Given the description of an element on the screen output the (x, y) to click on. 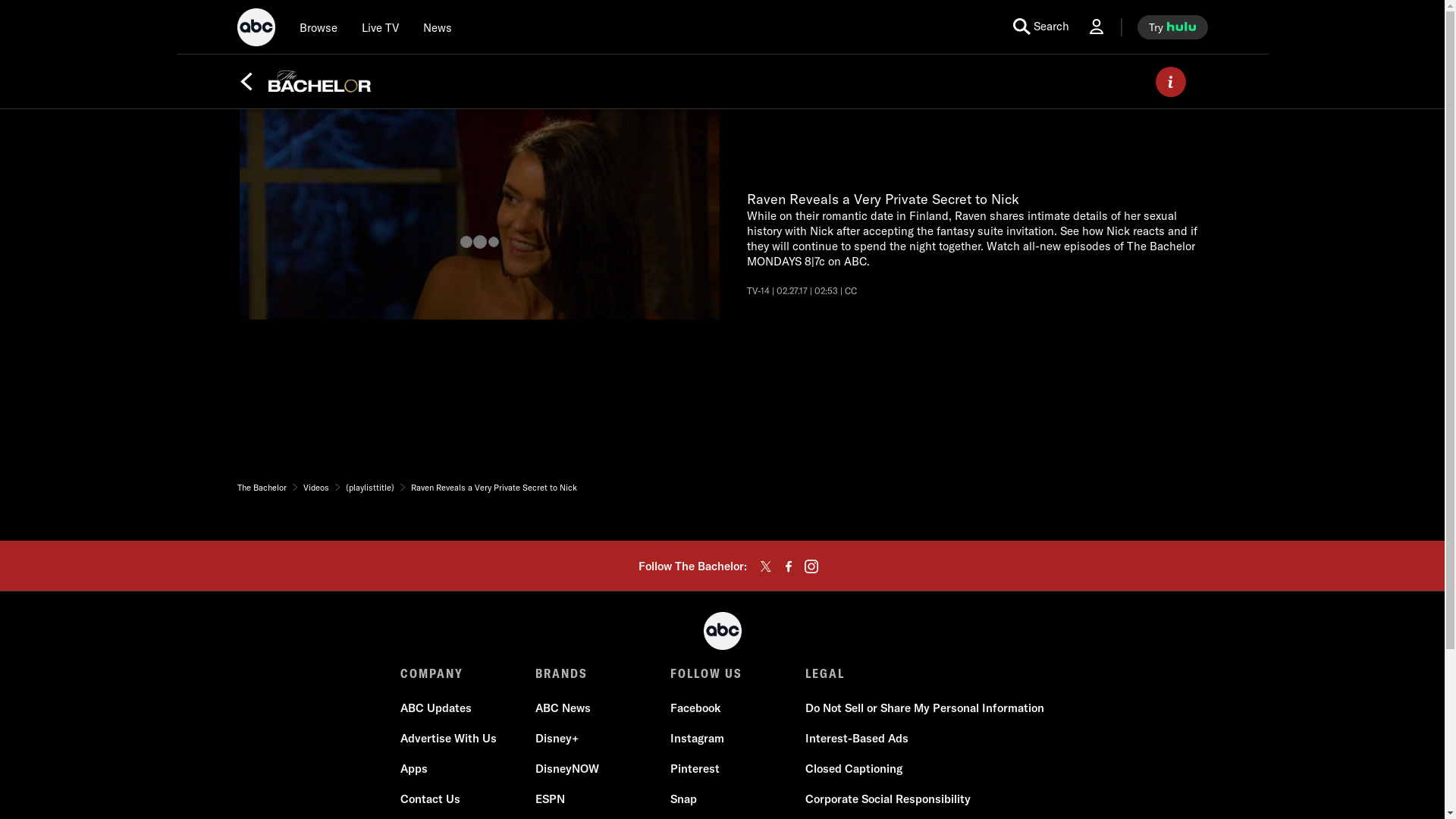
Videos (315, 487)
Try (1172, 27)
Advertise With Us (448, 738)
News (437, 27)
DisneyNOW (566, 768)
facebook icon (787, 566)
The Bachelor (319, 81)
twitter icon (765, 566)
instagram icon (811, 566)
The Bachelor (260, 487)
ABC News (563, 708)
Live TV (379, 27)
Apps (414, 768)
Browse (317, 27)
Search (1040, 26)
